Given the description of an element on the screen output the (x, y) to click on. 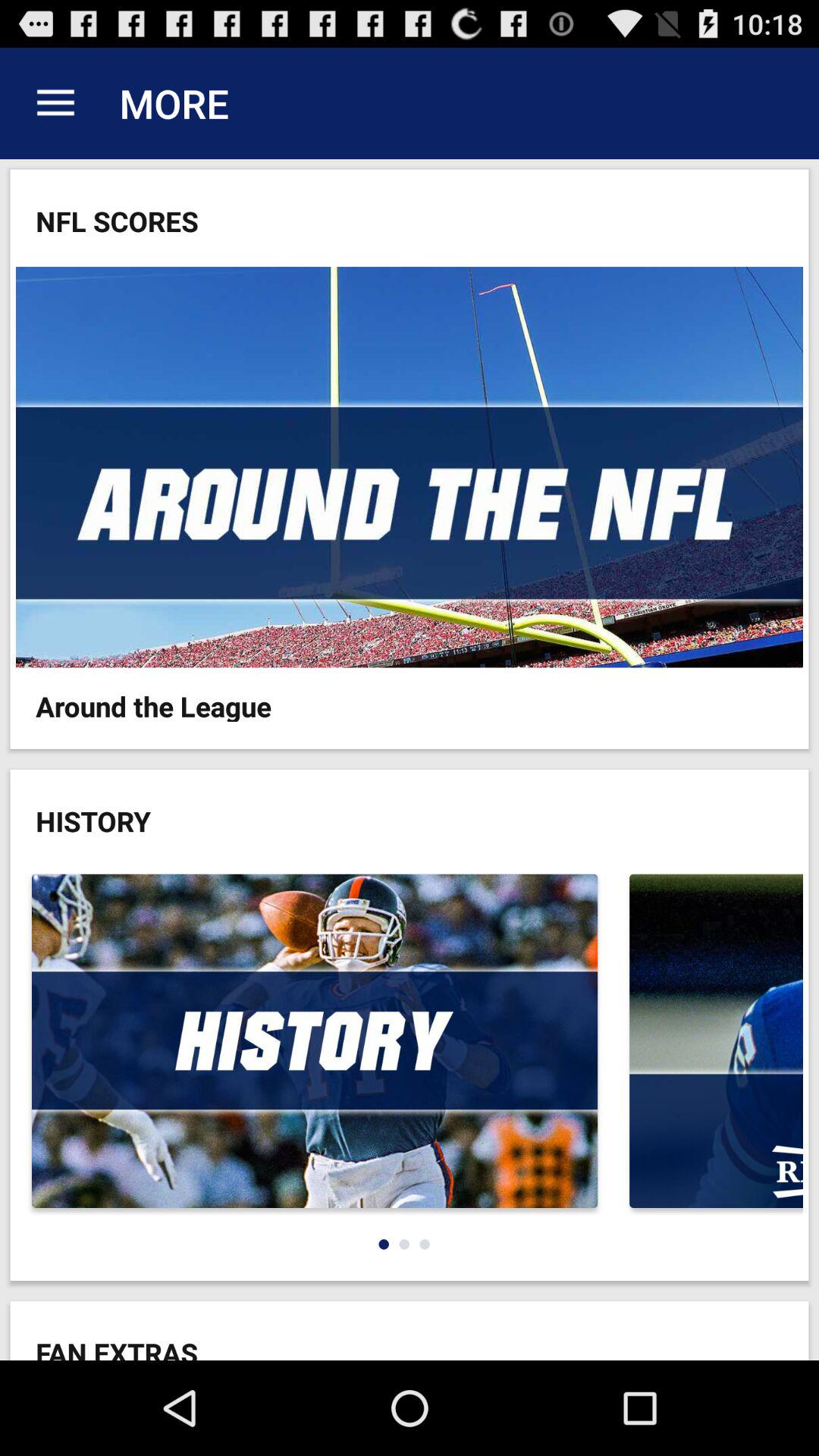
click app next to the more item (55, 103)
